Given the description of an element on the screen output the (x, y) to click on. 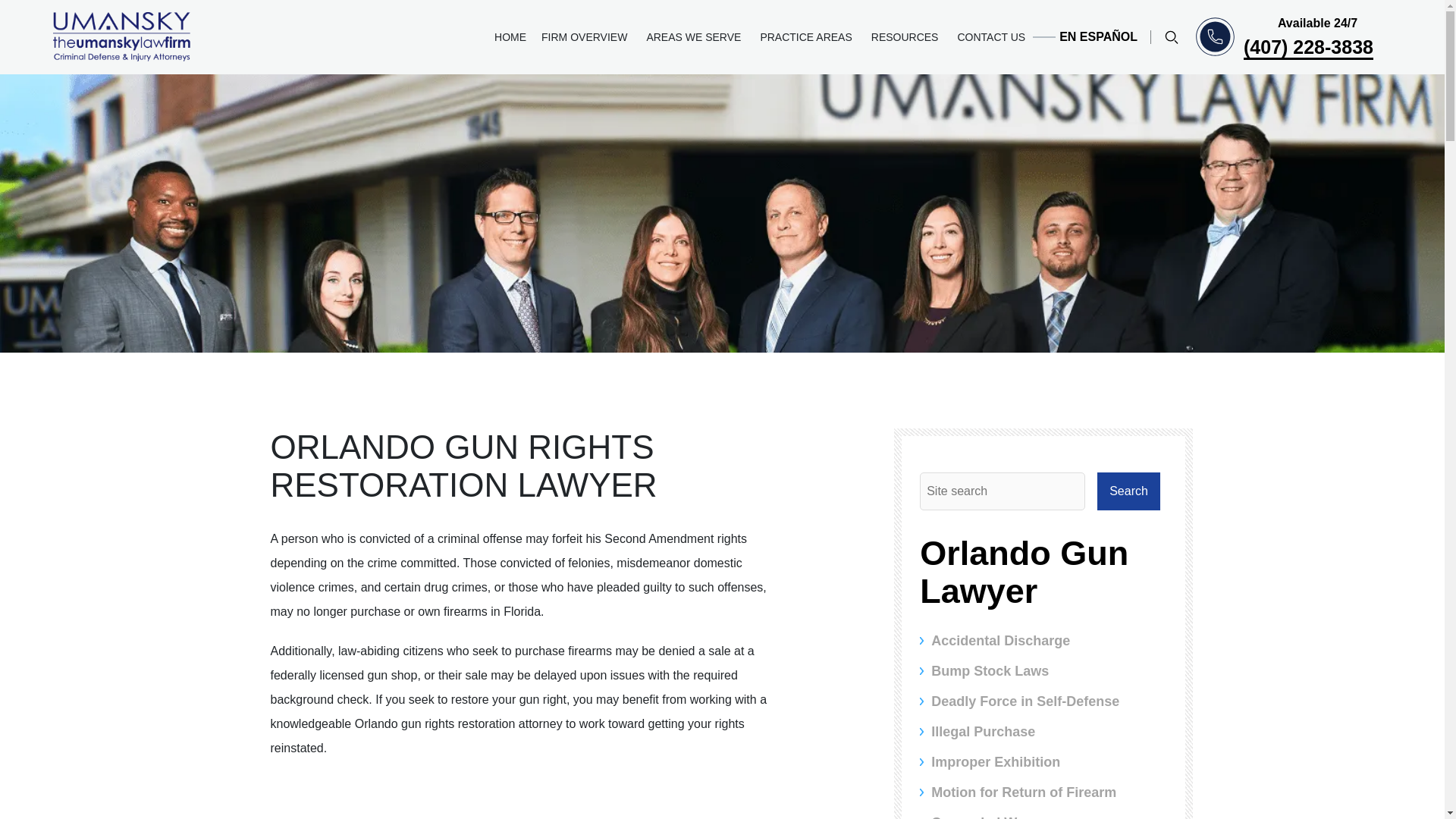
FIRM OVERVIEW (586, 37)
AREAS WE SERVE (695, 37)
Can a Sealed or Expunged Record Affect Your Gun Rights? (521, 797)
Search (1128, 491)
Search (1128, 491)
HOME (510, 37)
